Given the description of an element on the screen output the (x, y) to click on. 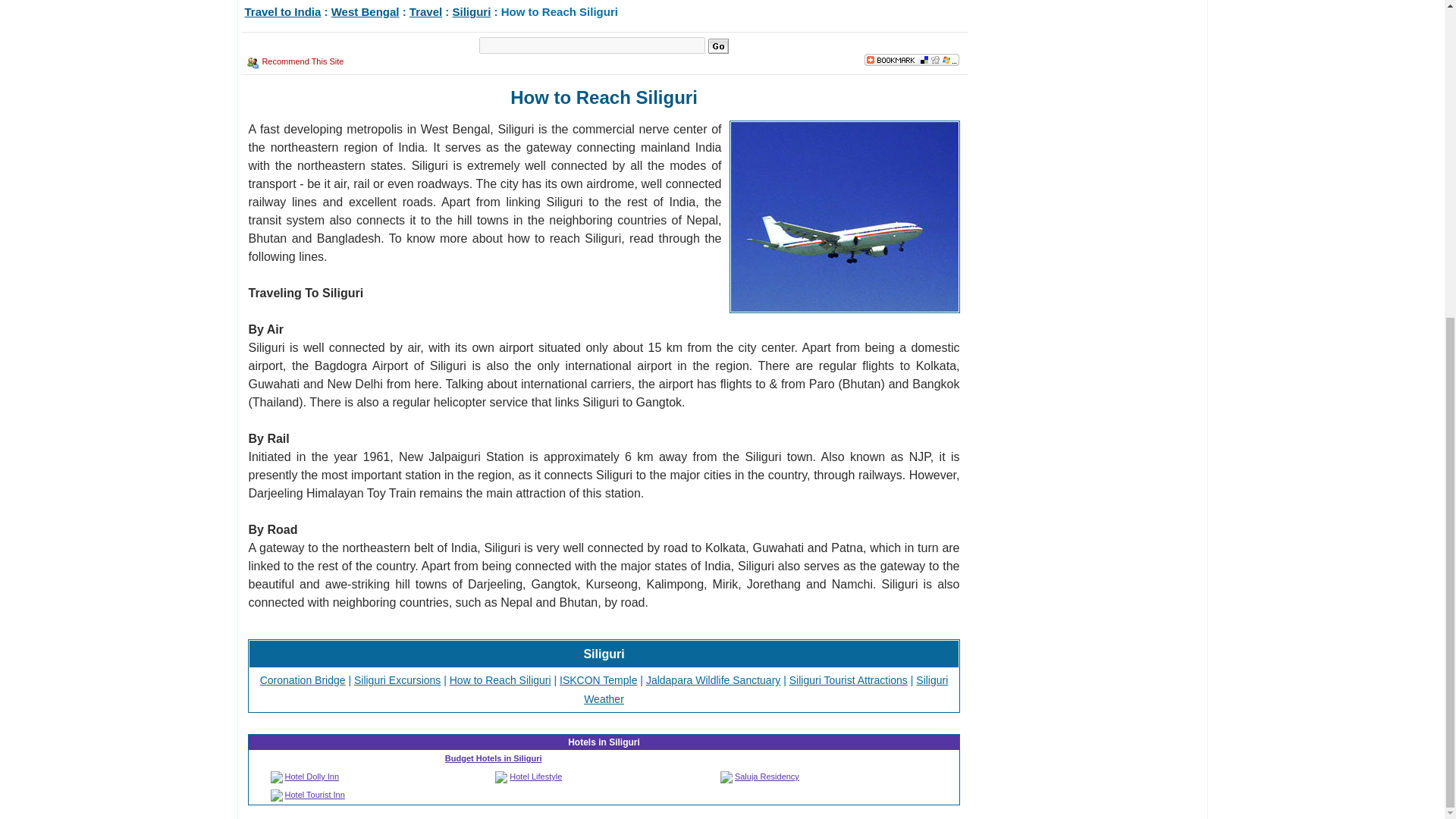
Travel (425, 11)
Coronation Bridge (303, 680)
Siliguri Tourist Attractions (848, 680)
Hotel Tourist Inn (315, 794)
Hotel Lifestyle (535, 776)
West Bengal (364, 11)
Budget Hotels in Siliguri (493, 757)
Recommend This Site (302, 61)
Siliguri (472, 11)
Siliguri Weather (765, 689)
